Given the description of an element on the screen output the (x, y) to click on. 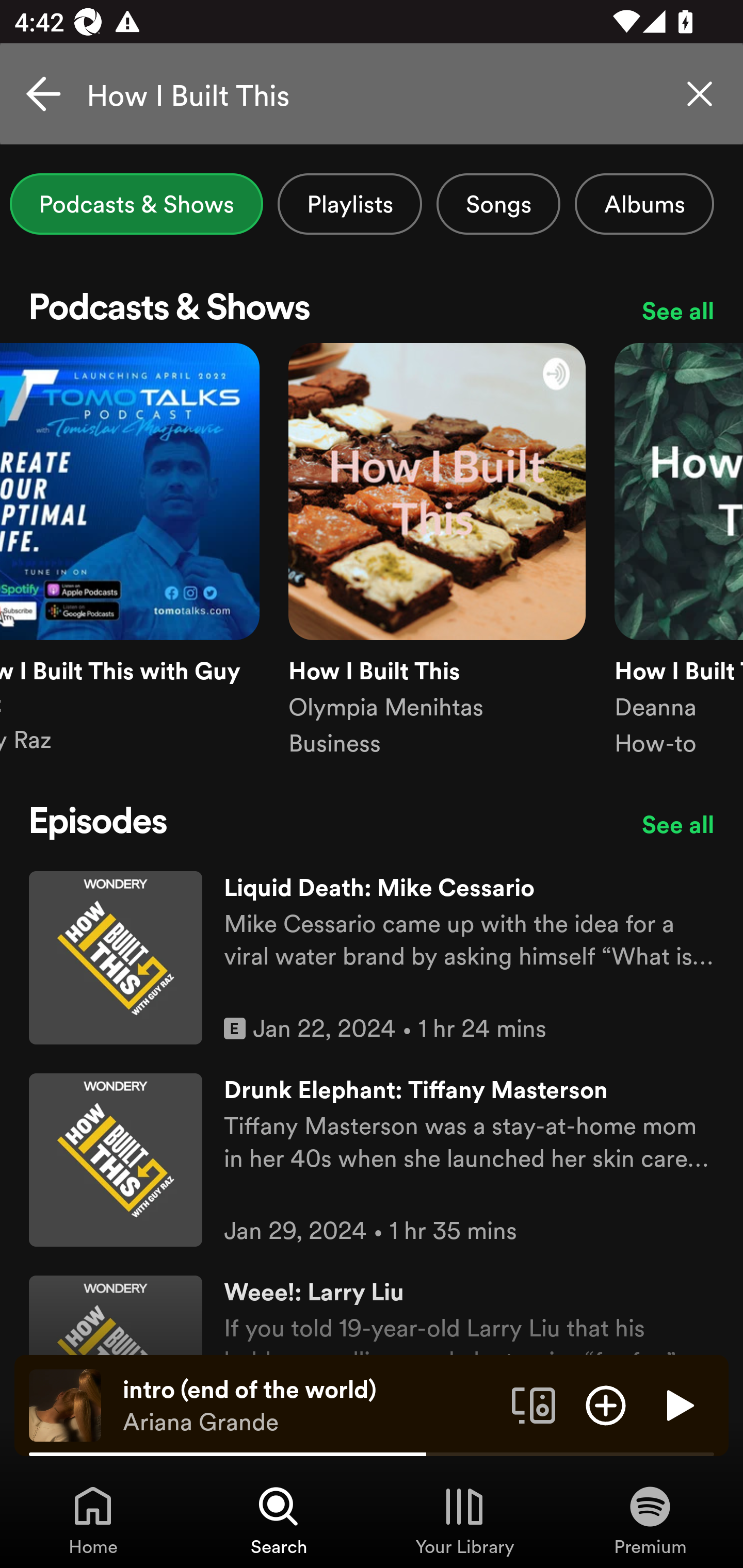
How I Built This (371, 93)
Cancel (43, 93)
Clear search query (699, 93)
Podcasts & Shows (136, 203)
Playlists (349, 203)
Songs (498, 203)
Albums (644, 203)
Podcasts & Shows See all (371, 310)
How I Built This with Guy Raz Guy Raz (129, 567)
How I Built This  Olympia Menihtas Business (436, 567)
Episodes See all (371, 823)
intro (end of the world) Ariana Grande (309, 1405)
The cover art of the currently playing track (64, 1404)
Connect to a device. Opens the devices menu (533, 1404)
Add item (605, 1404)
Play (677, 1404)
Home, Tab 1 of 4 Home Home (92, 1519)
Search, Tab 2 of 4 Search Search (278, 1519)
Your Library, Tab 3 of 4 Your Library Your Library (464, 1519)
Premium, Tab 4 of 4 Premium Premium (650, 1519)
